Given the description of an element on the screen output the (x, y) to click on. 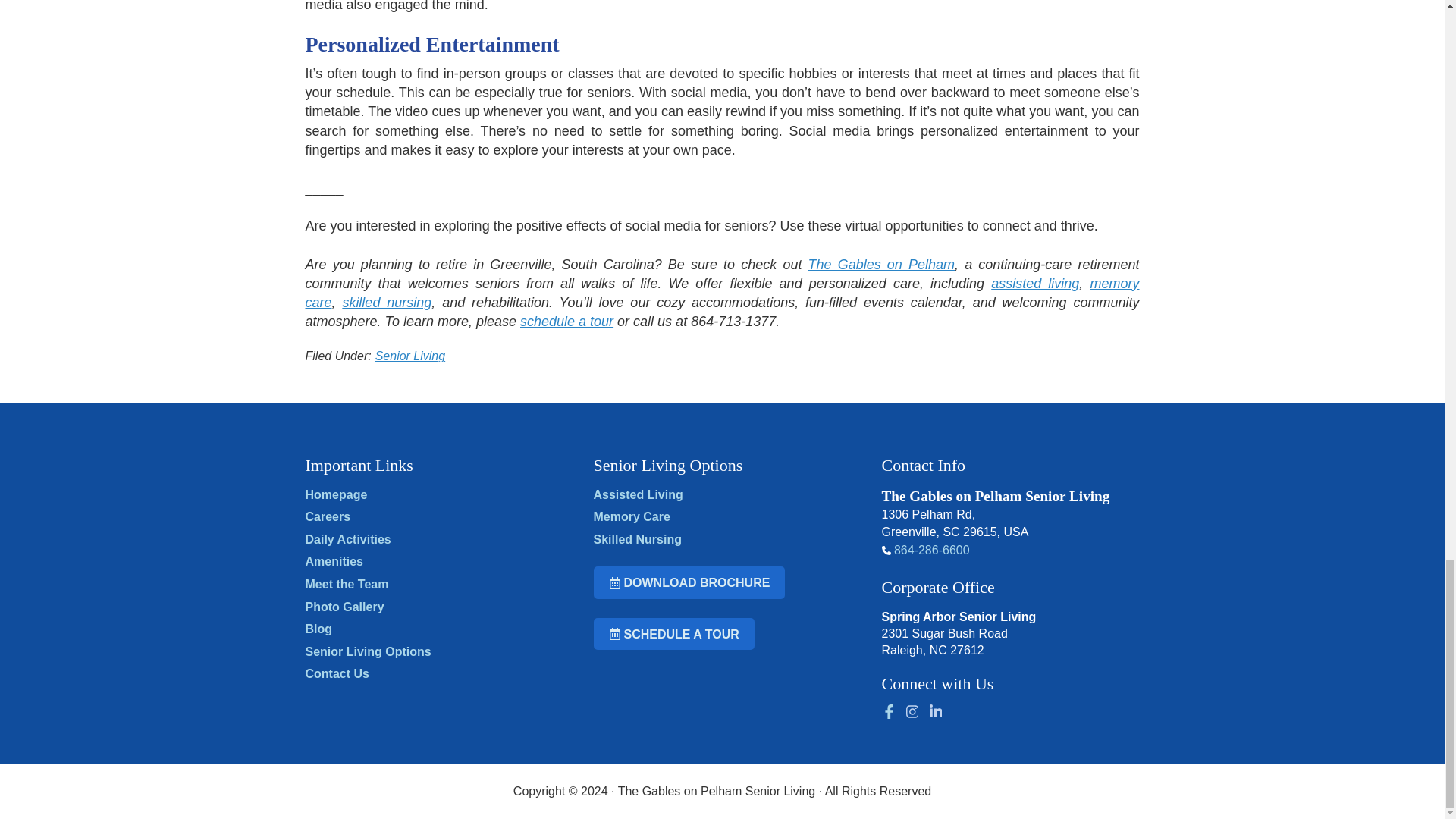
Senior Living (410, 355)
The Gables on Pelham (881, 264)
assisted living (1034, 283)
Photo Gallery (344, 606)
Daily Activities (347, 539)
memory care (721, 293)
schedule a tour (565, 321)
Careers (327, 516)
Linkedin (935, 711)
Homepage (335, 494)
